Given the description of an element on the screen output the (x, y) to click on. 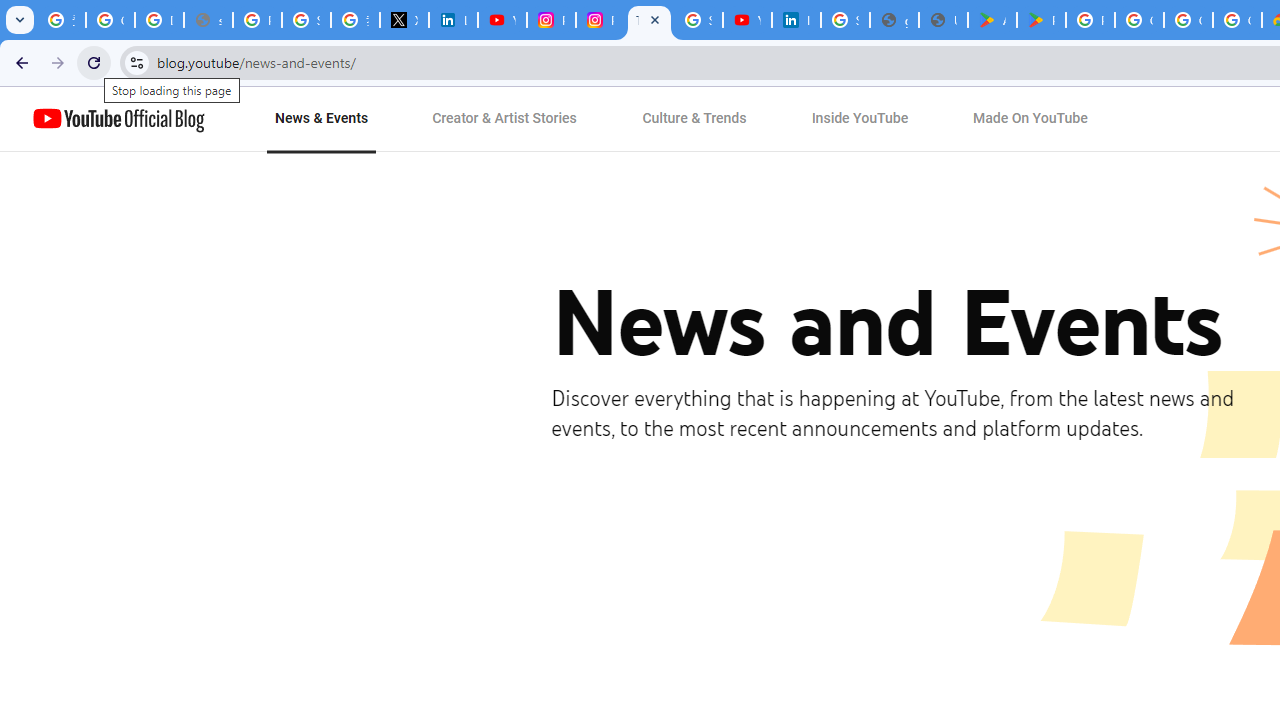
X (404, 20)
LinkedIn Privacy Policy (452, 20)
YouTube Official Blog logo (118, 119)
Privacy Help Center - Policies Help (257, 20)
Culture & Trends (694, 119)
